Given the description of an element on the screen output the (x, y) to click on. 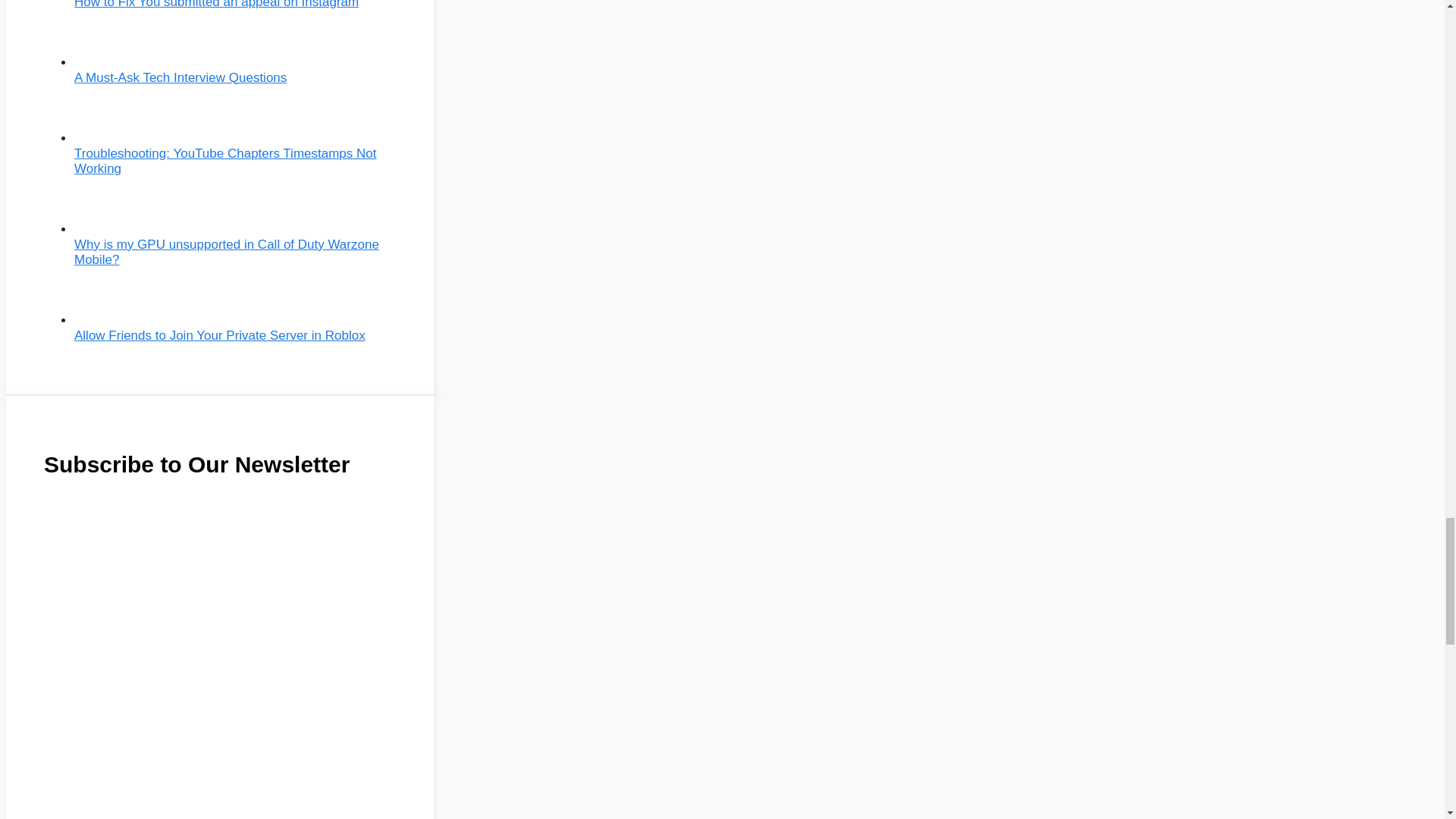
How to Fix You submitted an appeal on Instagram (216, 4)
A Must-Ask Tech Interview Questions (180, 76)
Troubleshooting: YouTube Chapters Timestamps Not Working (224, 160)
